Given the description of an element on the screen output the (x, y) to click on. 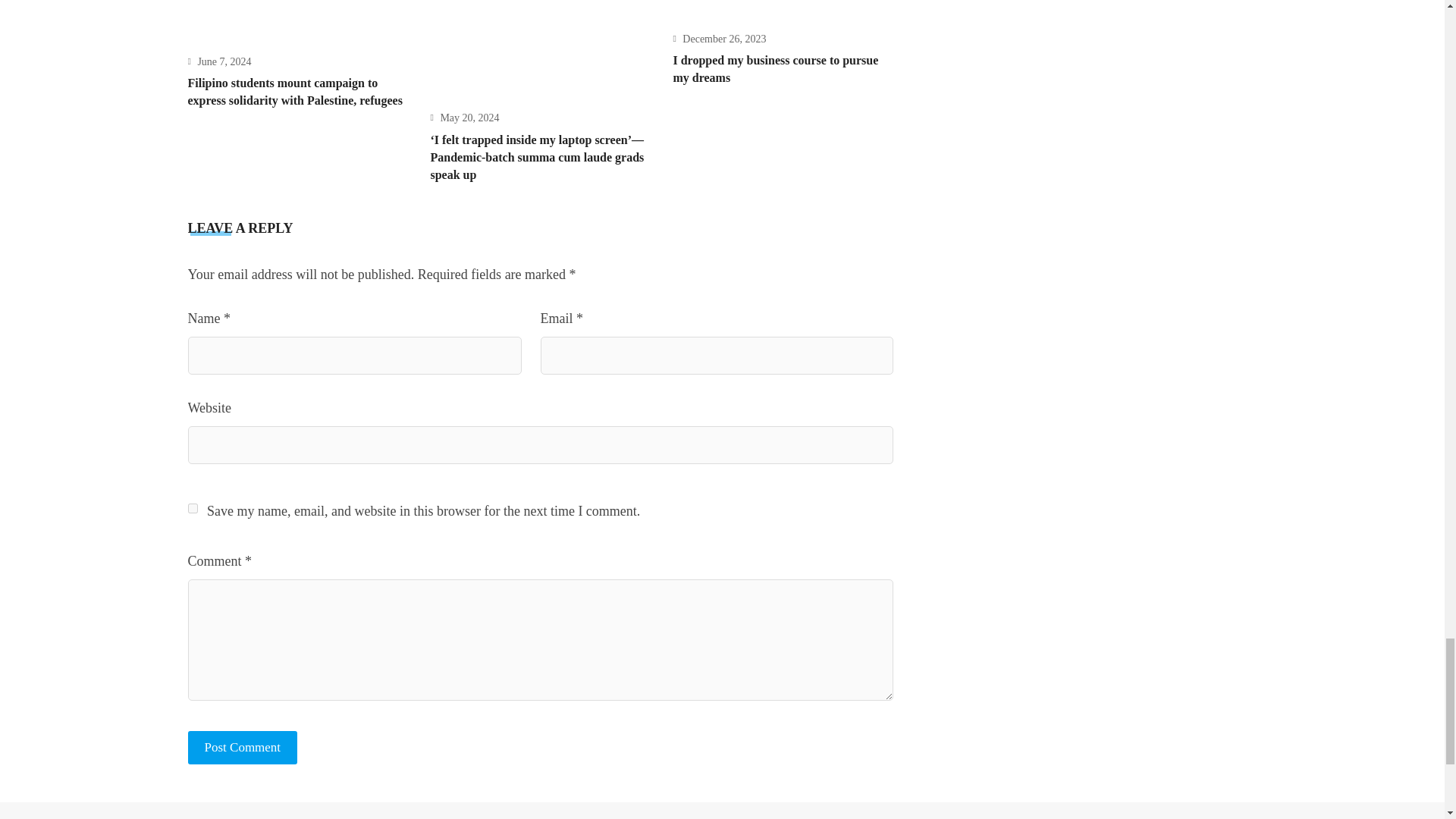
Post Comment (242, 747)
yes (192, 508)
I dropped my business course to pursue my dreams (774, 69)
Post Comment (242, 747)
